Given the description of an element on the screen output the (x, y) to click on. 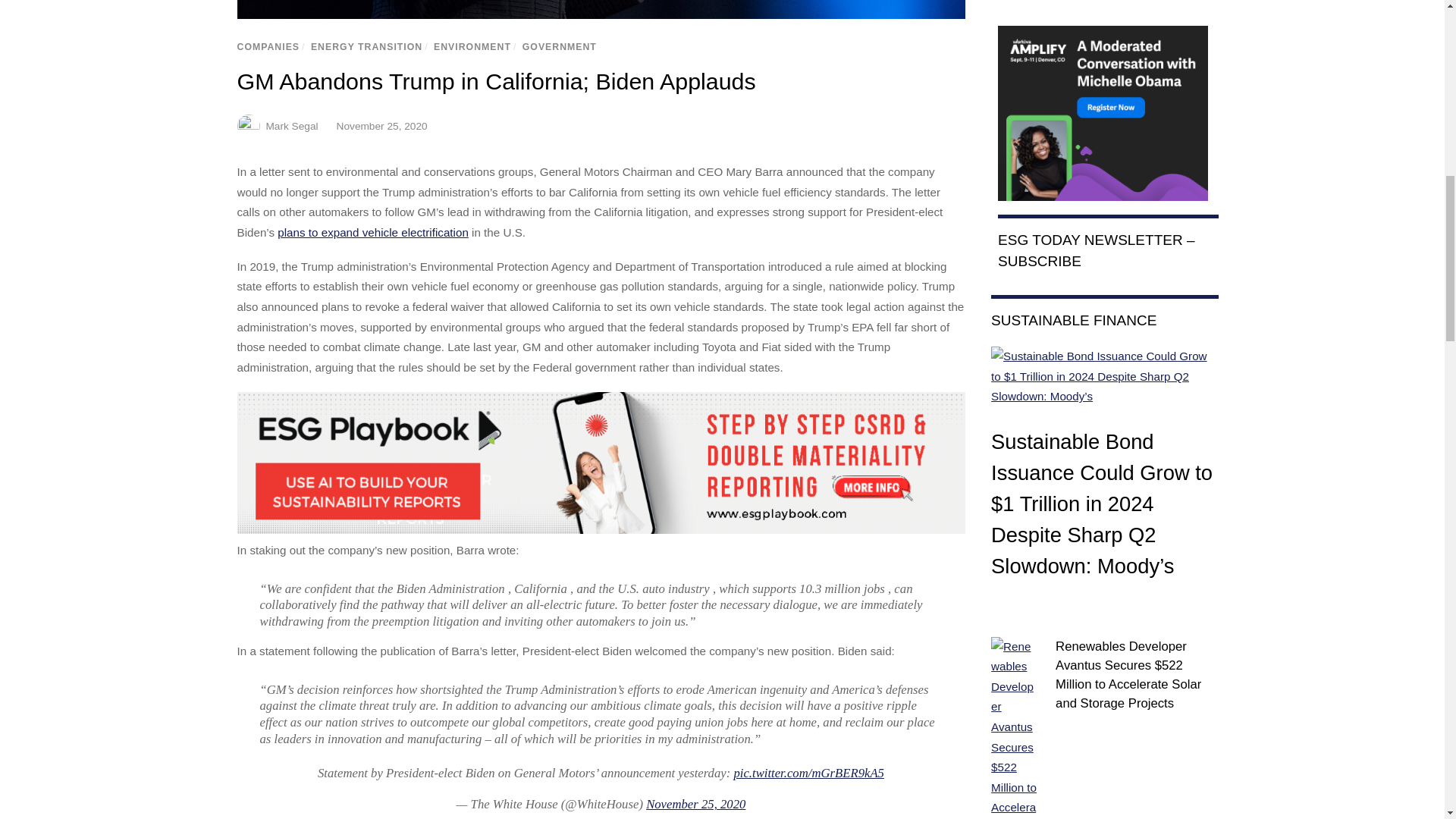
COMPANIES (267, 46)
ENERGY TRANSITION (366, 46)
ENVIRONMENT (472, 46)
GM Abandons Trump in California; Biden Applauds (599, 9)
